Given the description of an element on the screen output the (x, y) to click on. 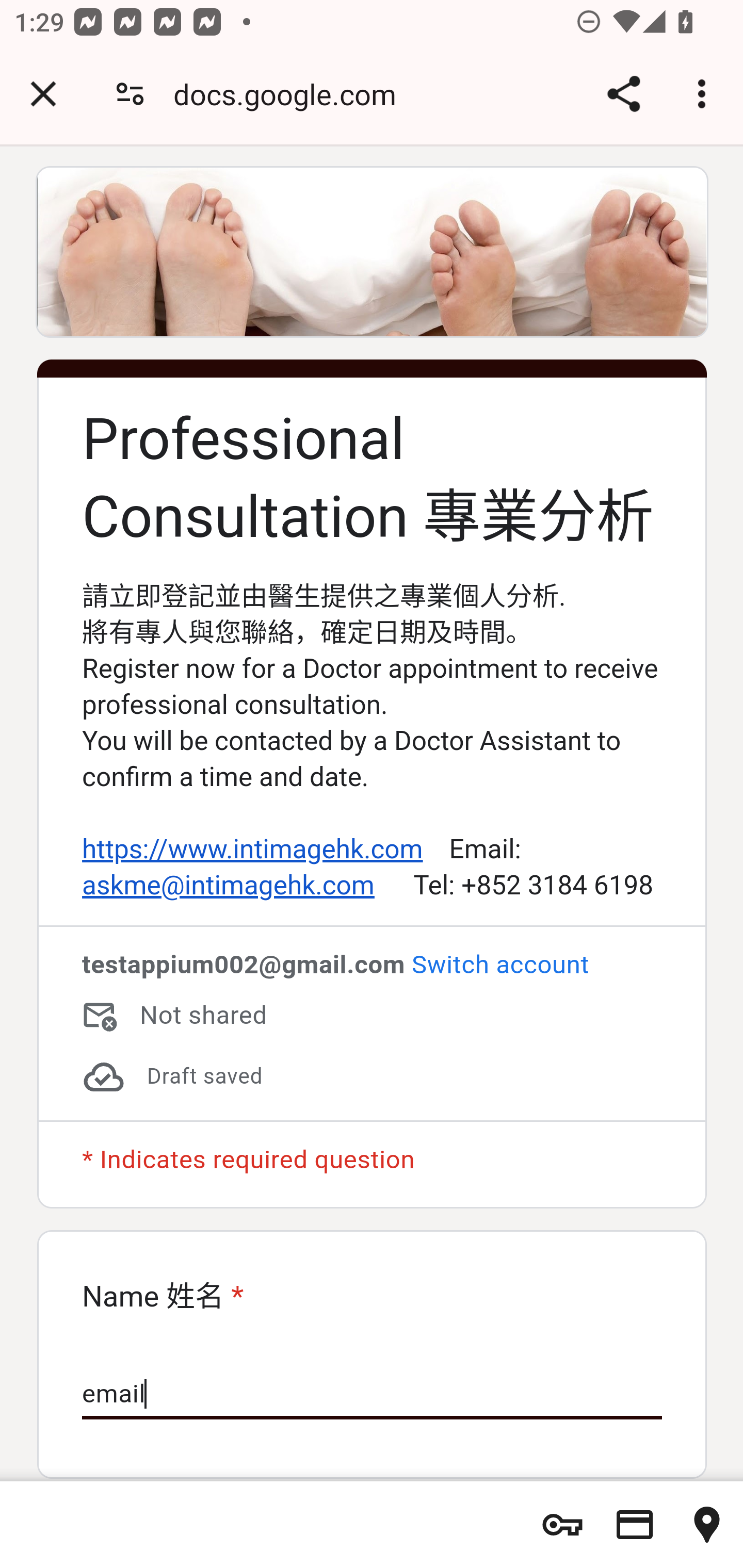
Close tab (43, 93)
Share (623, 93)
Customize and control Google Chrome (705, 93)
Connection is secure (129, 93)
docs.google.com (291, 93)
https://www.intimagehk.com (252, 849)
askme@intimagehk.com (227, 885)
Switch account (499, 965)
email (371, 1394)
Show saved passwords and password options (562, 1524)
Show saved payment methods (634, 1524)
Show saved addresses (706, 1524)
